Given the description of an element on the screen output the (x, y) to click on. 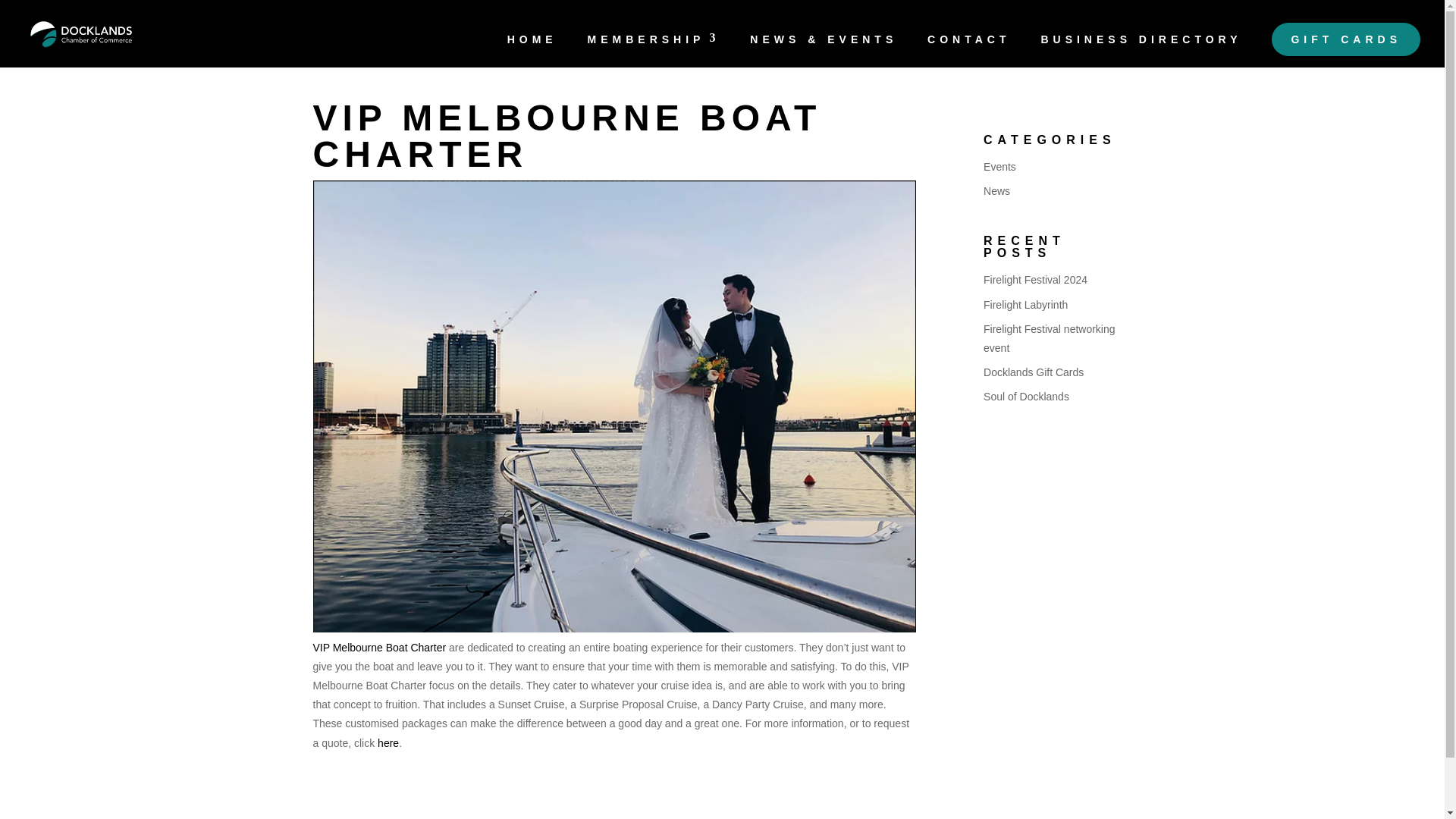
News (997, 191)
CONTACT (968, 50)
VIP Melbourne Boat Charter (379, 647)
Soul of Docklands (1026, 396)
here (387, 743)
Docklands Gift Cards (1033, 372)
BUSINESS DIRECTORY (1141, 50)
Firelight Labyrinth (1025, 304)
GIFT CARDS (1346, 39)
HOME (531, 50)
Events (1000, 166)
MEMBERSHIP (654, 50)
Firelight Festival 2024 (1035, 279)
Firelight Festival networking event (1049, 337)
